Given the description of an element on the screen output the (x, y) to click on. 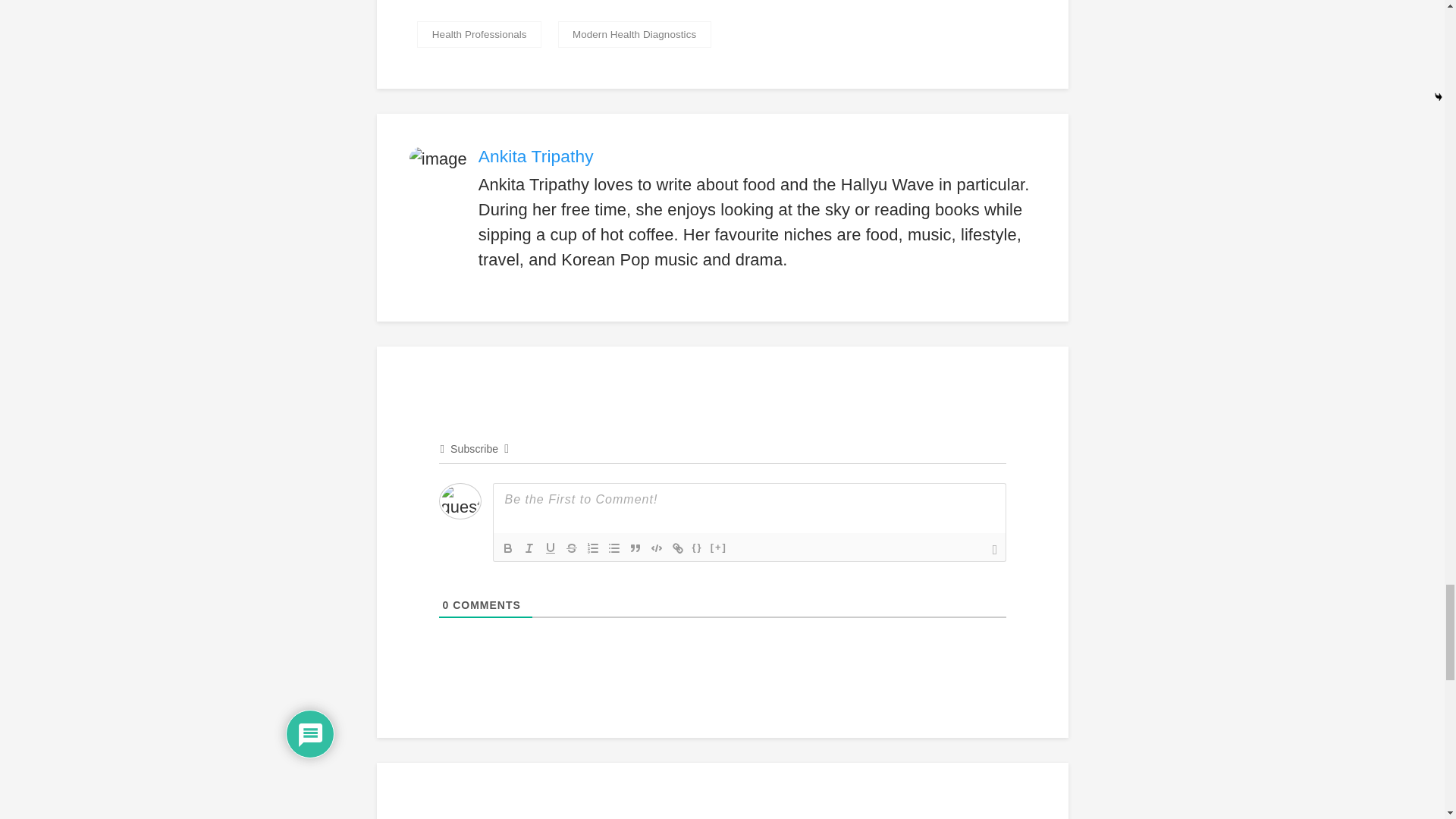
Unordered List (614, 547)
Bold (507, 547)
Italic (529, 547)
Strike (571, 547)
Underline (550, 547)
Ordered List (593, 547)
